Given the description of an element on the screen output the (x, y) to click on. 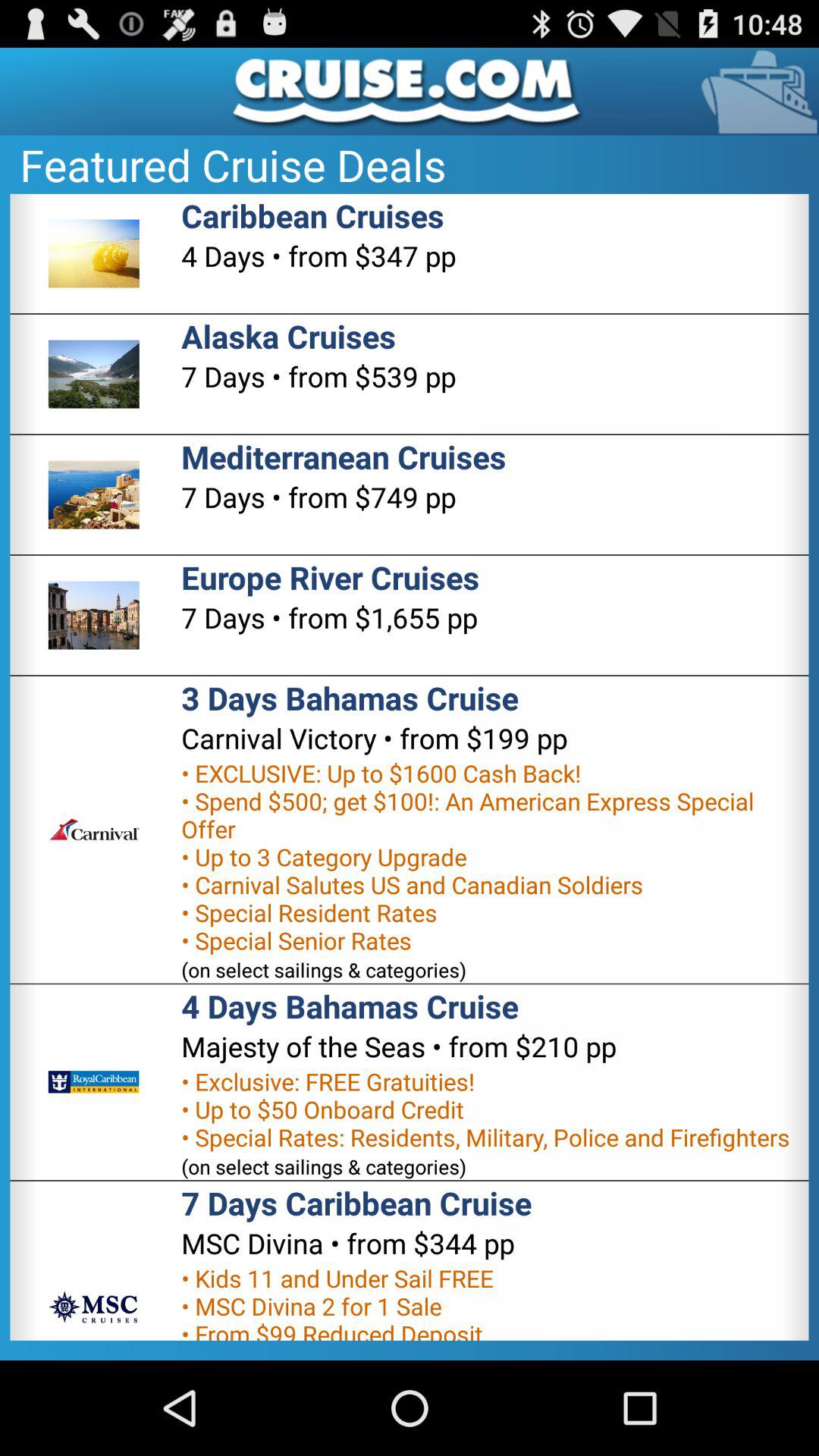
turn on icon above the featured cruise deals item (409, 91)
